Given the description of an element on the screen output the (x, y) to click on. 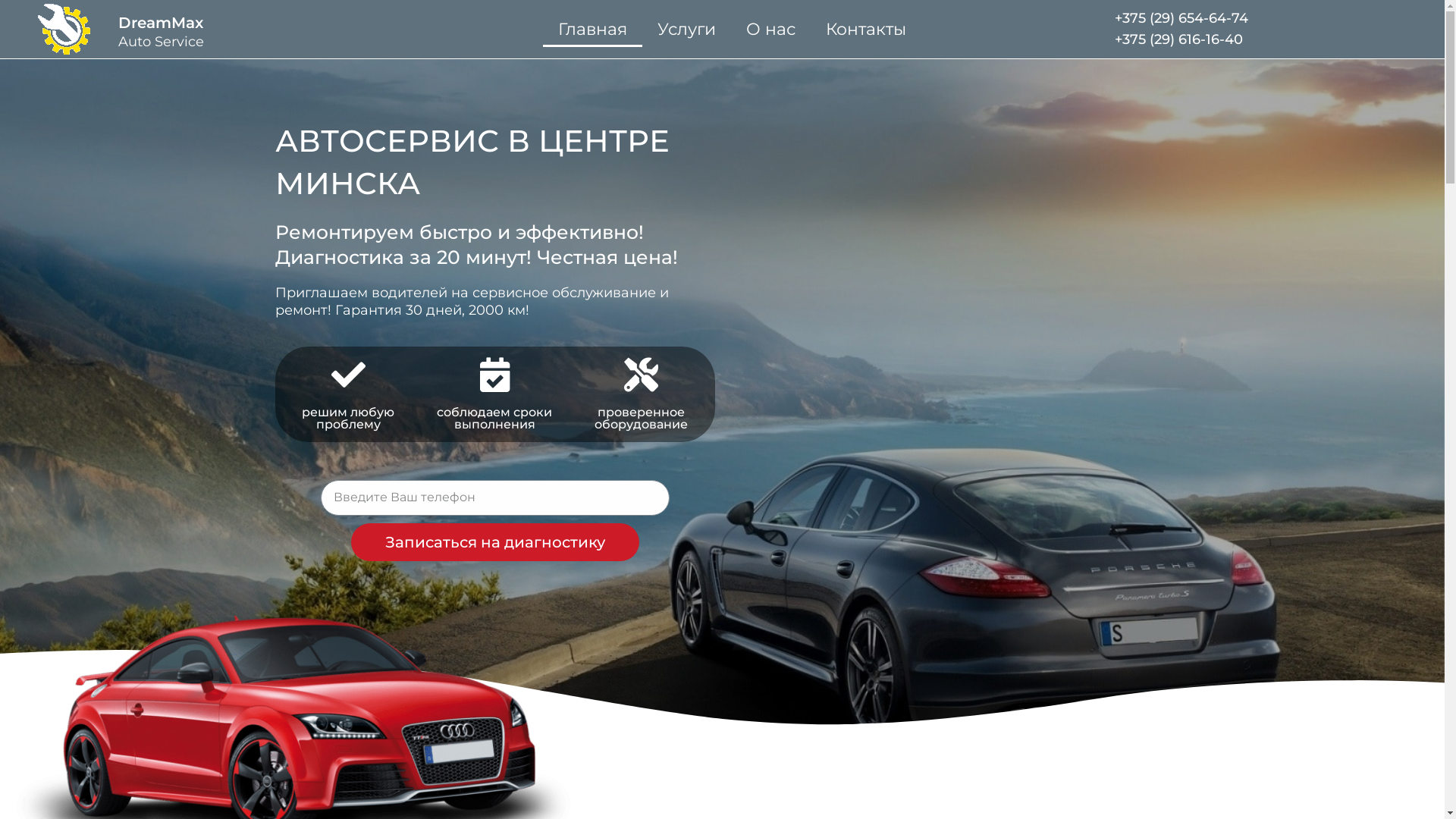
+375 (29) 616-16-40 Element type: text (1178, 39)
+375 (29) 654-64-74 Element type: text (1181, 17)
